Given the description of an element on the screen output the (x, y) to click on. 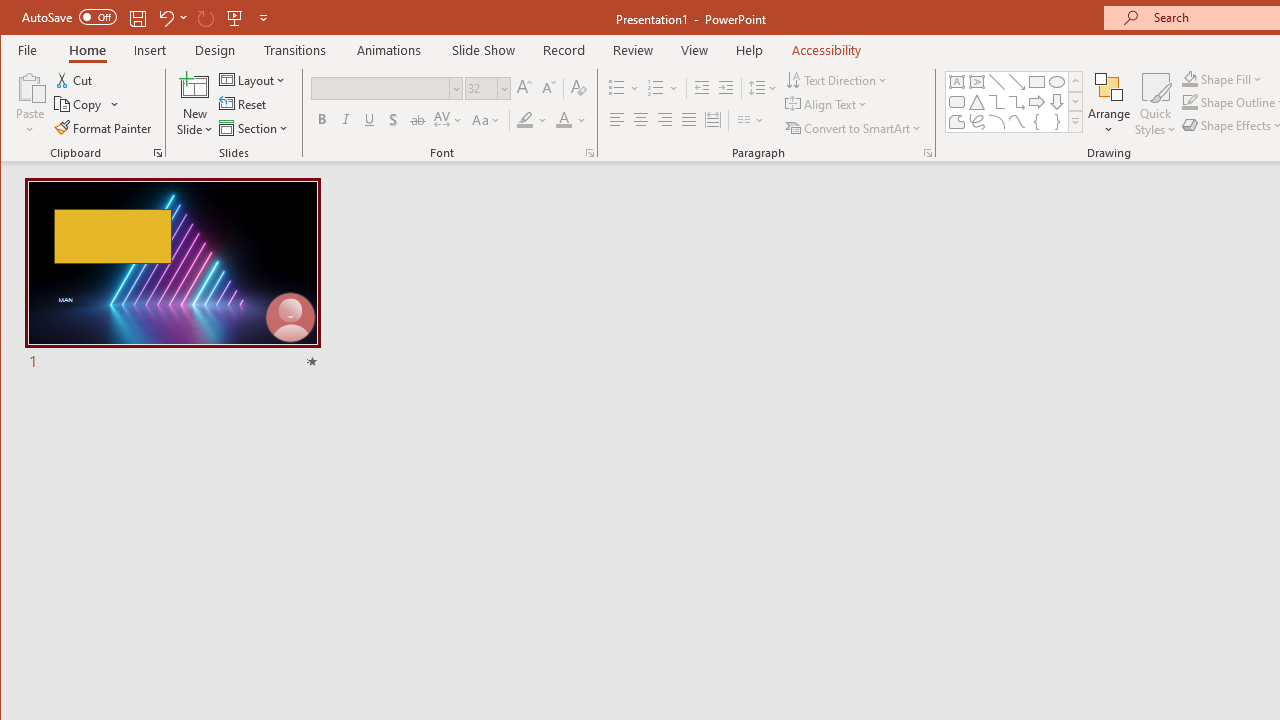
Isosceles Triangle (976, 102)
Clear Formatting (579, 88)
Arrow: Down (1057, 102)
Underline (369, 119)
Align Right (664, 119)
Freeform: Scribble (976, 121)
Align Text (828, 103)
Curve (1016, 121)
Arrow: Right (1036, 102)
